Given the description of an element on the screen output the (x, y) to click on. 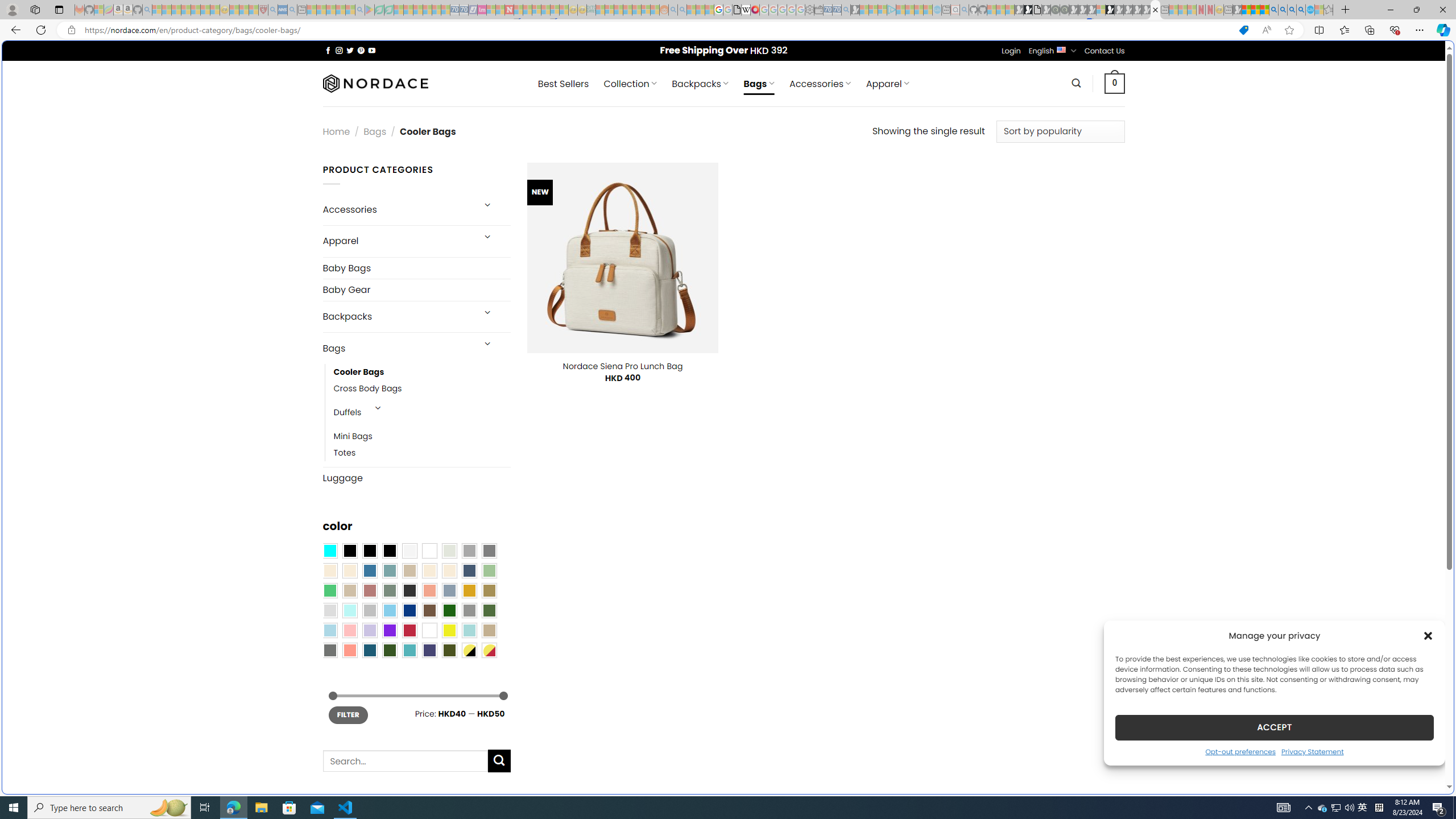
Cross Body Bags (422, 388)
Follow on Twitter (349, 49)
White (429, 630)
Luggage (416, 477)
Light Green (488, 570)
Hale Navy (468, 570)
Bags (397, 348)
